Given the description of an element on the screen output the (x, y) to click on. 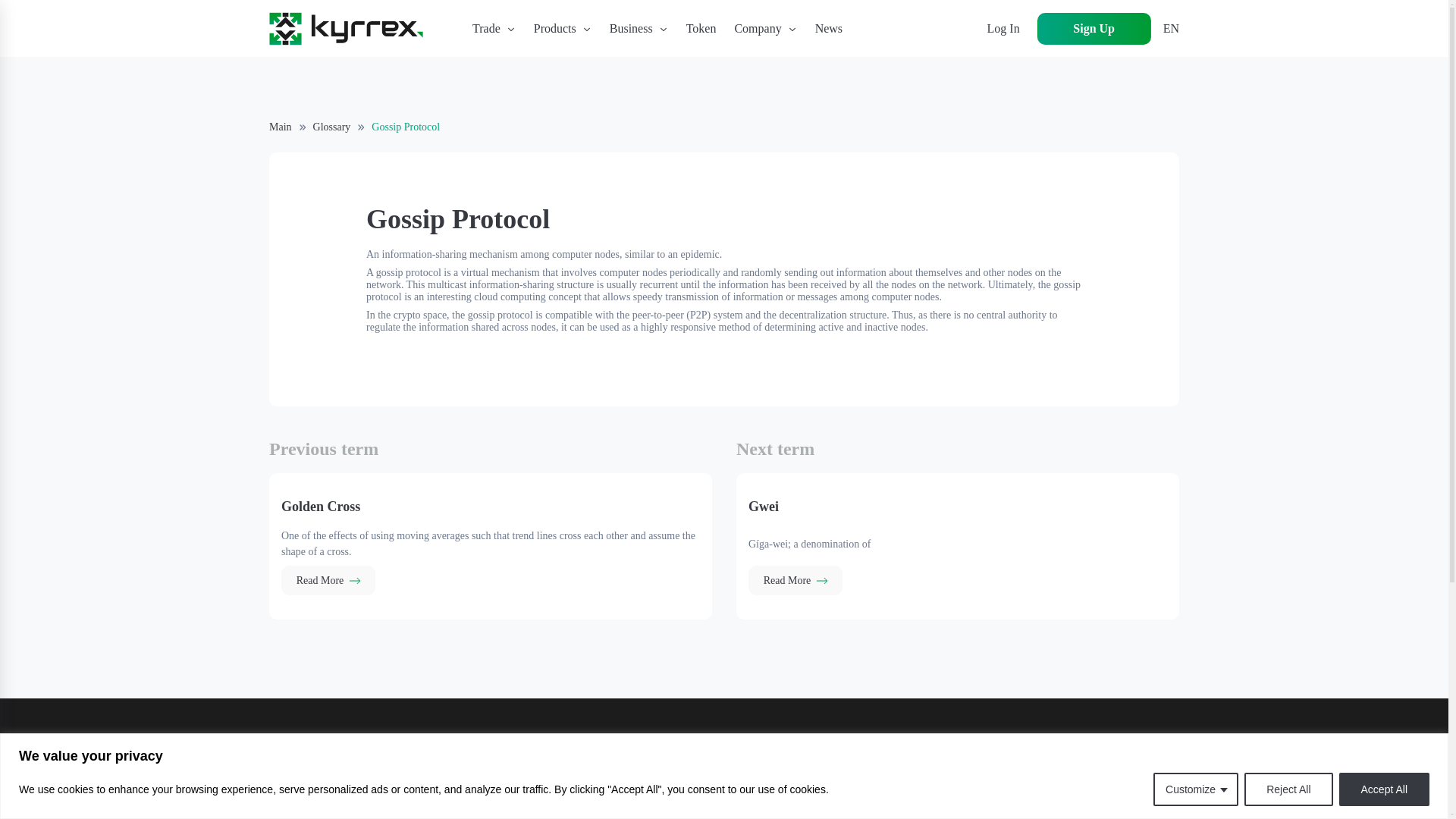
Customize (1196, 788)
Reject All (1288, 788)
Token (700, 28)
Accept All (1384, 788)
